Given the description of an element on the screen output the (x, y) to click on. 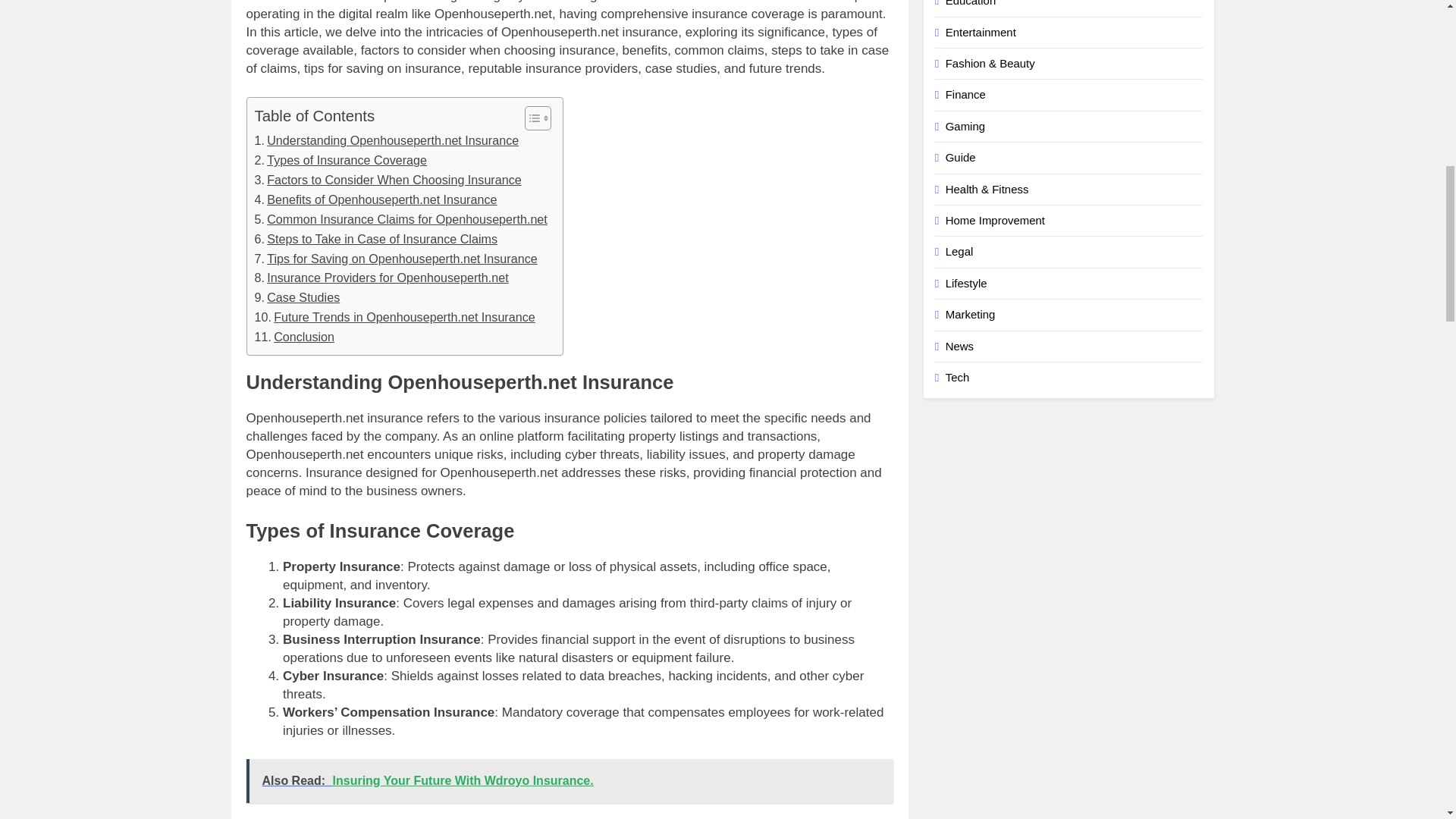
Benefits of Openhouseperth.net Insurance (375, 199)
Understanding Openhouseperth.net Insurance (386, 140)
Types of Insurance Coverage (341, 160)
Factors to Consider When Choosing Insurance (387, 180)
Common Insurance Claims for Openhouseperth.net (400, 219)
